Given the description of an element on the screen output the (x, y) to click on. 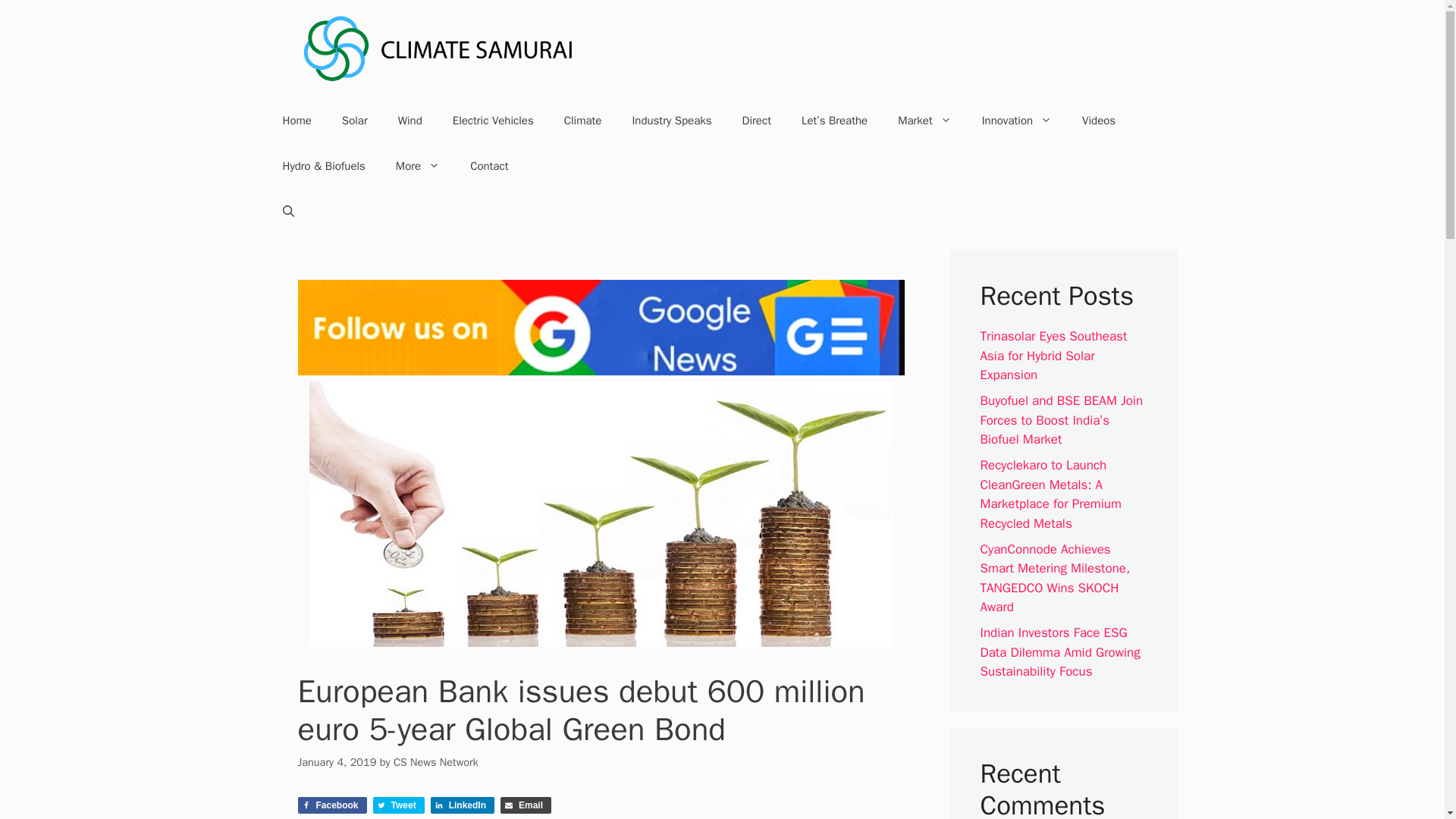
Tweet (398, 805)
Share via Email (525, 805)
More (417, 166)
Market (924, 120)
Climate Samurai (438, 48)
Videos (1099, 120)
Facebook (331, 805)
View all posts by CS News Network (436, 762)
Innovation (1016, 120)
Share on Twitter (398, 805)
